Given the description of an element on the screen output the (x, y) to click on. 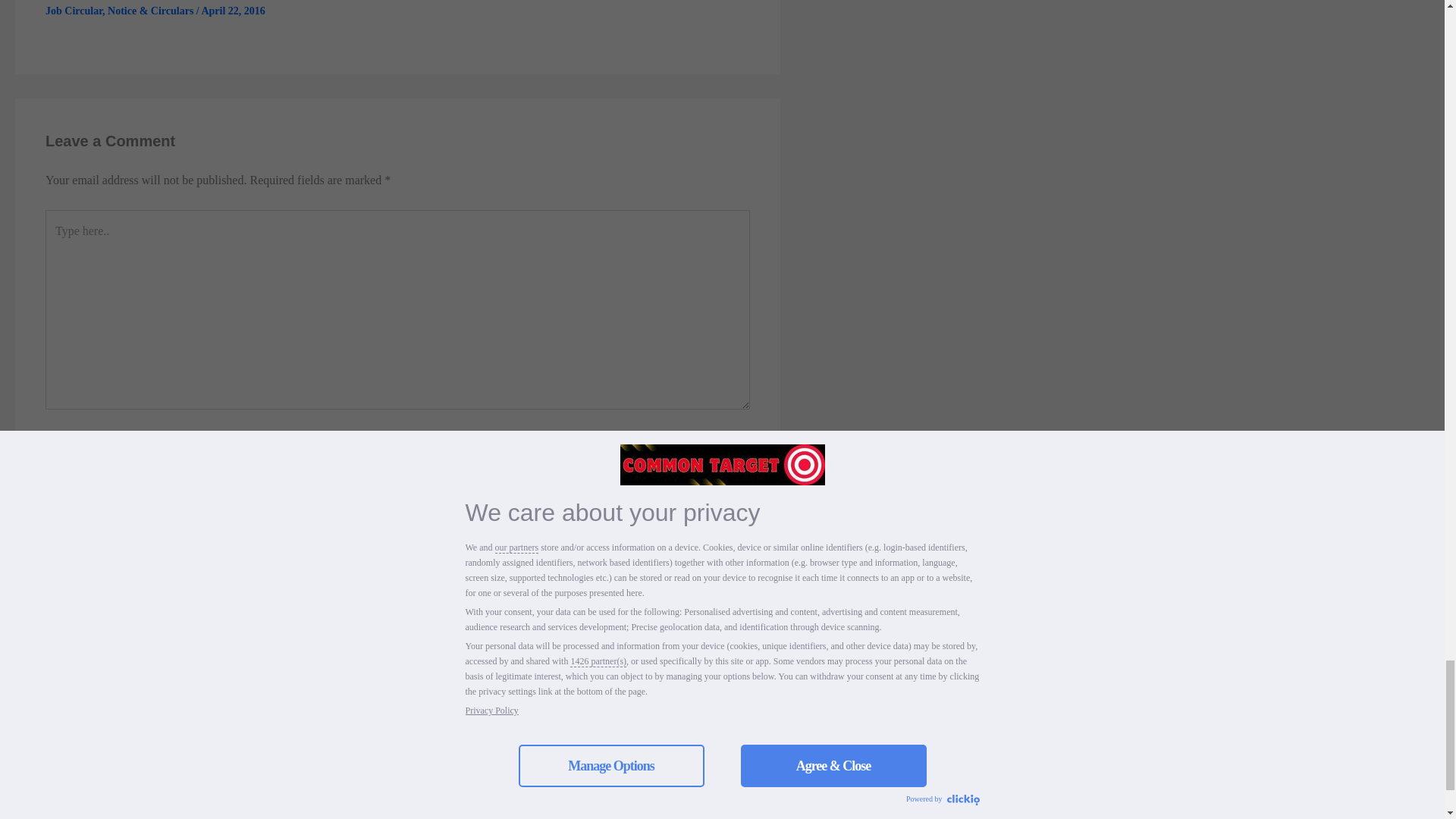
Post Comment (92, 564)
yes (50, 511)
Job Circular (73, 10)
